Given the description of an element on the screen output the (x, y) to click on. 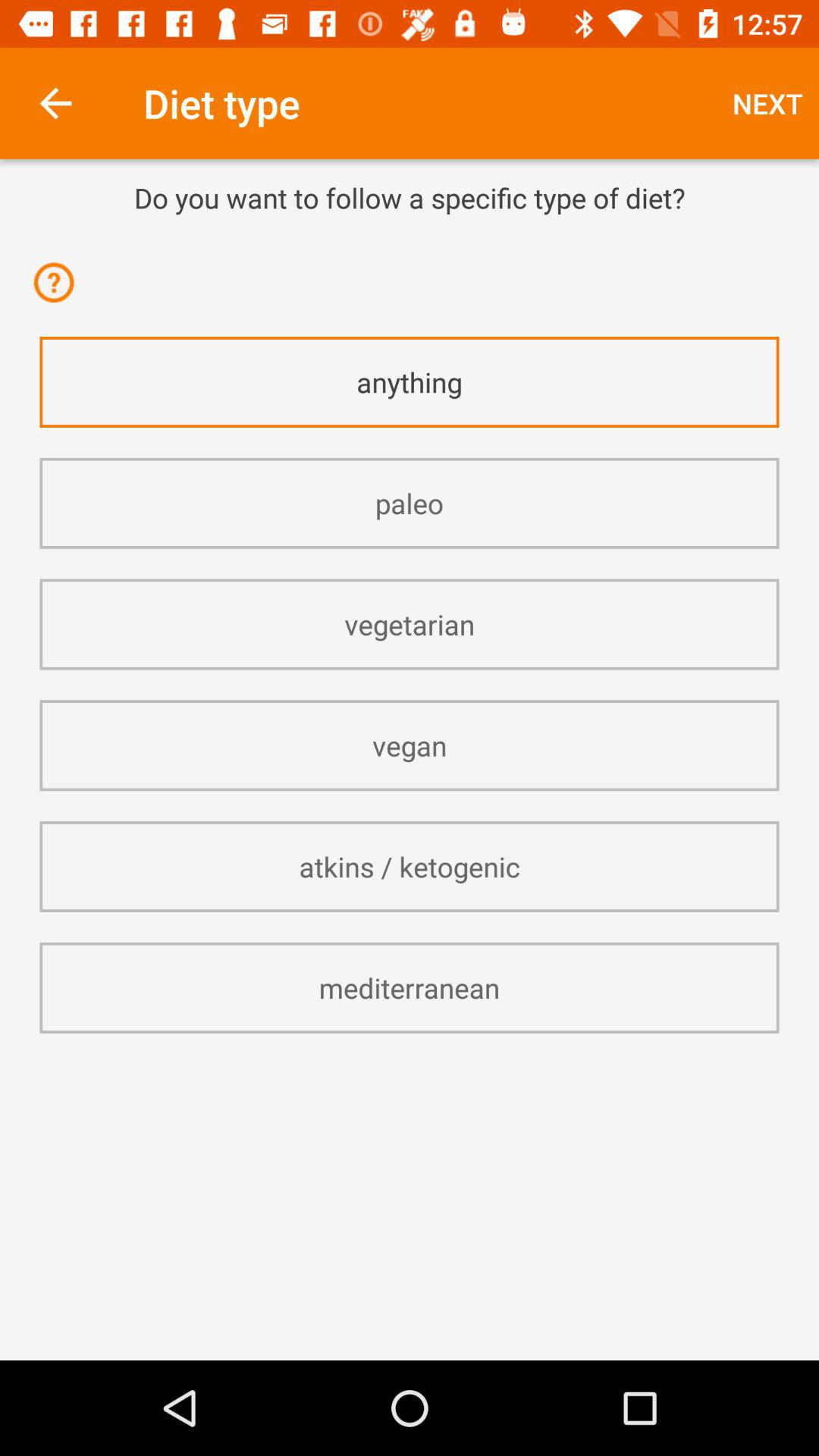
press atkins / ketogenic item (409, 866)
